Given the description of an element on the screen output the (x, y) to click on. 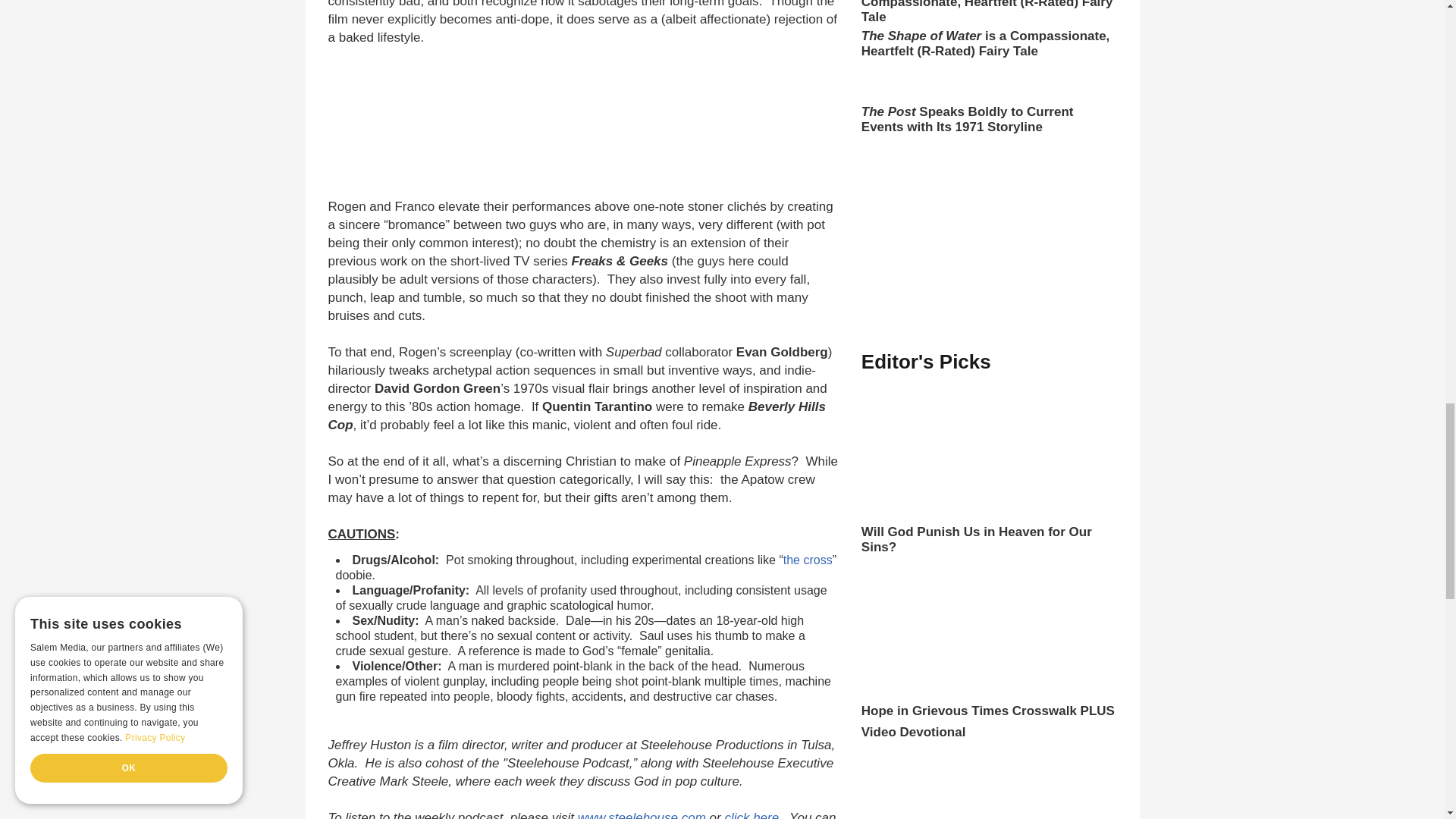
CW Desktop Embed - Promises PDF 650x175 - Daily Insp (564, 122)
